Given the description of an element on the screen output the (x, y) to click on. 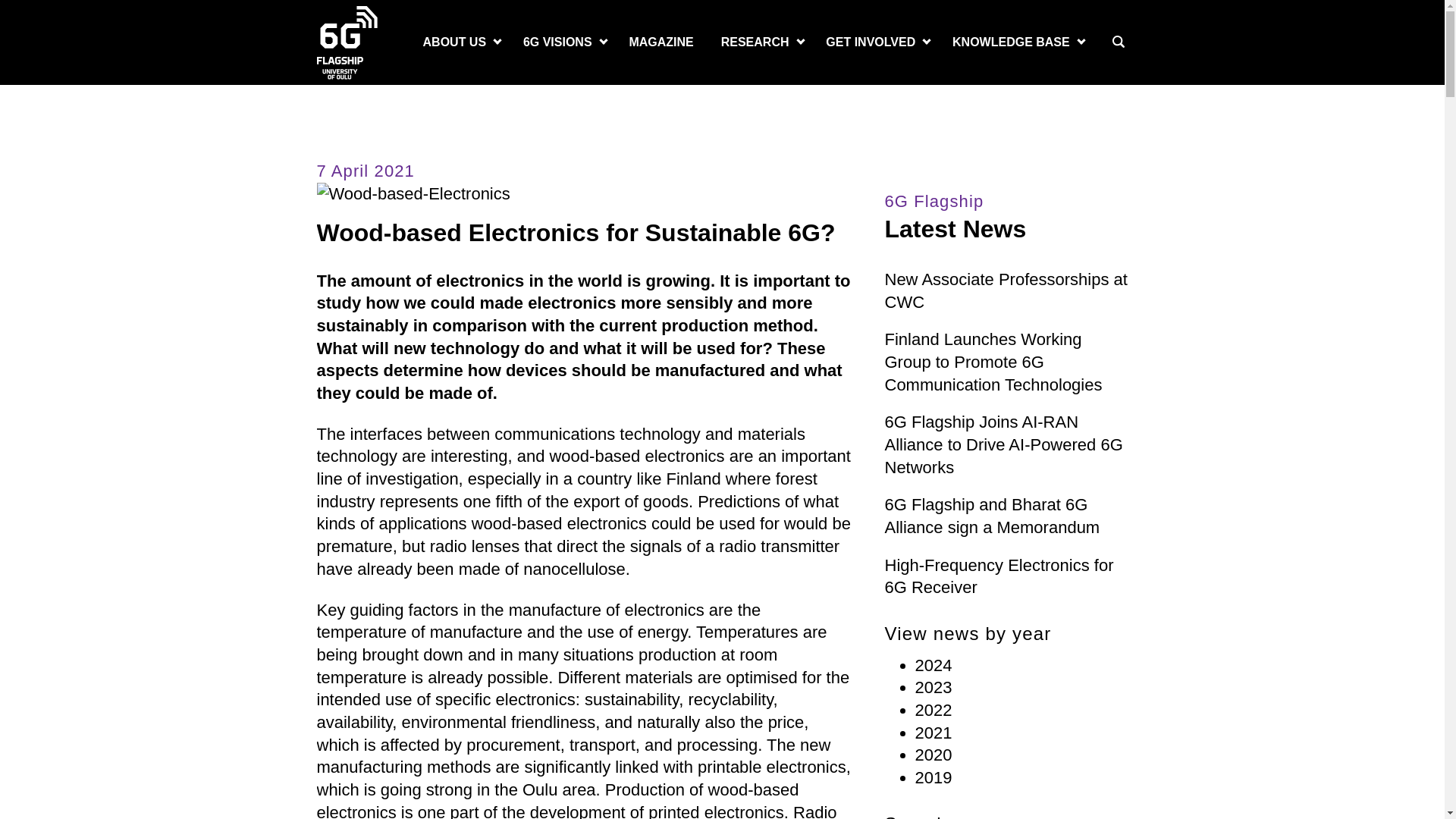
KNOWLEDGE BASE (1011, 42)
ABOUT US (454, 42)
MAGAZINE (660, 42)
RESEARCH (755, 42)
6G VISIONS (557, 42)
GET INVOLVED (870, 42)
